Given the description of an element on the screen output the (x, y) to click on. 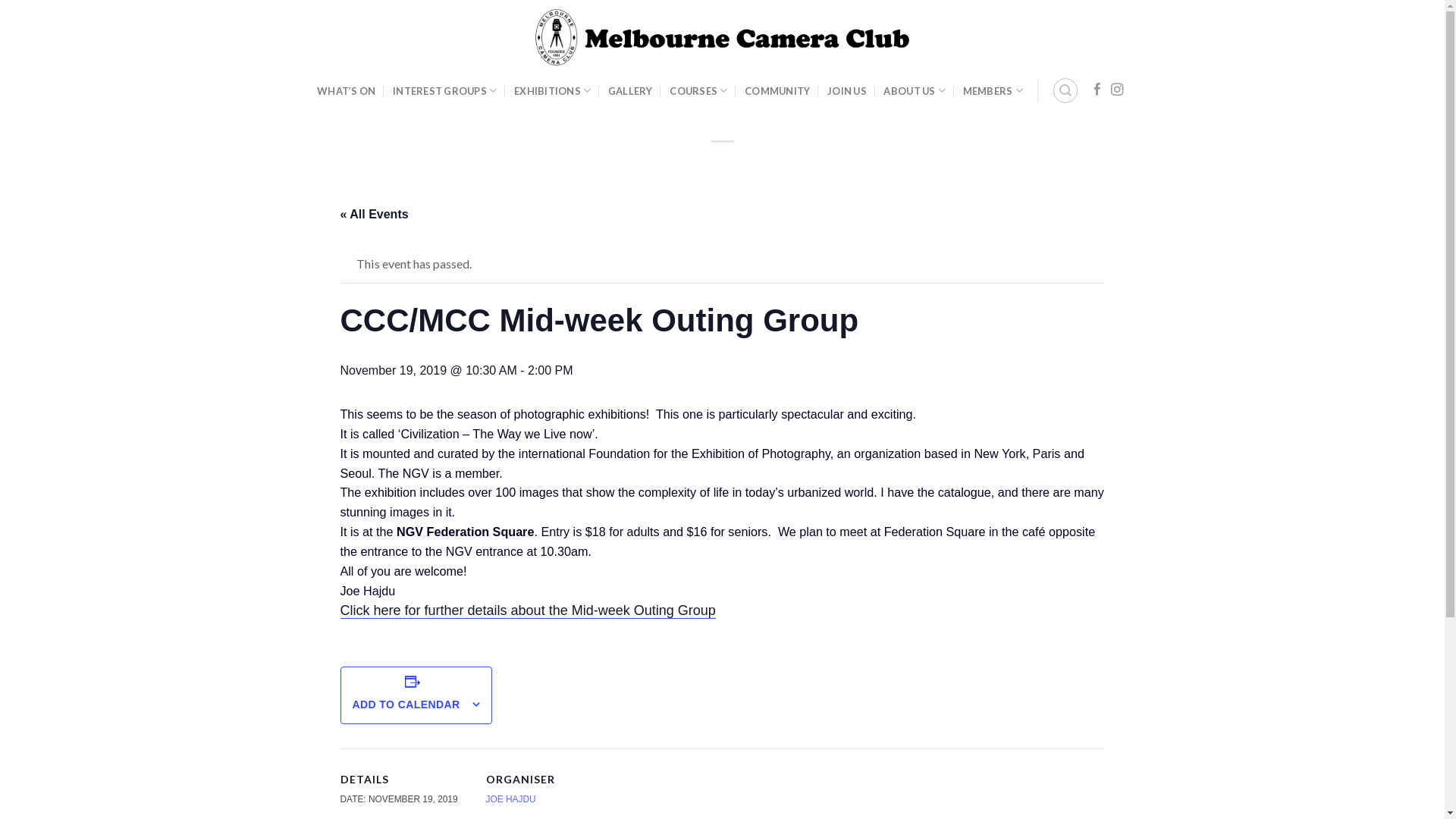
COURSES Element type: text (698, 90)
Follow on Facebook Element type: hover (1097, 90)
JOIN US Element type: text (846, 90)
ABOUT US Element type: text (914, 90)
COMMUNITY Element type: text (776, 90)
INTEREST GROUPS Element type: text (444, 90)
Follow on Instagram Element type: hover (1116, 90)
GALLERY Element type: text (630, 90)
MEMBERS Element type: text (992, 90)
EXHIBITIONS Element type: text (552, 90)
JOE HAJDU Element type: text (510, 798)
ADD TO CALENDAR Element type: text (405, 703)
